Given the description of an element on the screen output the (x, y) to click on. 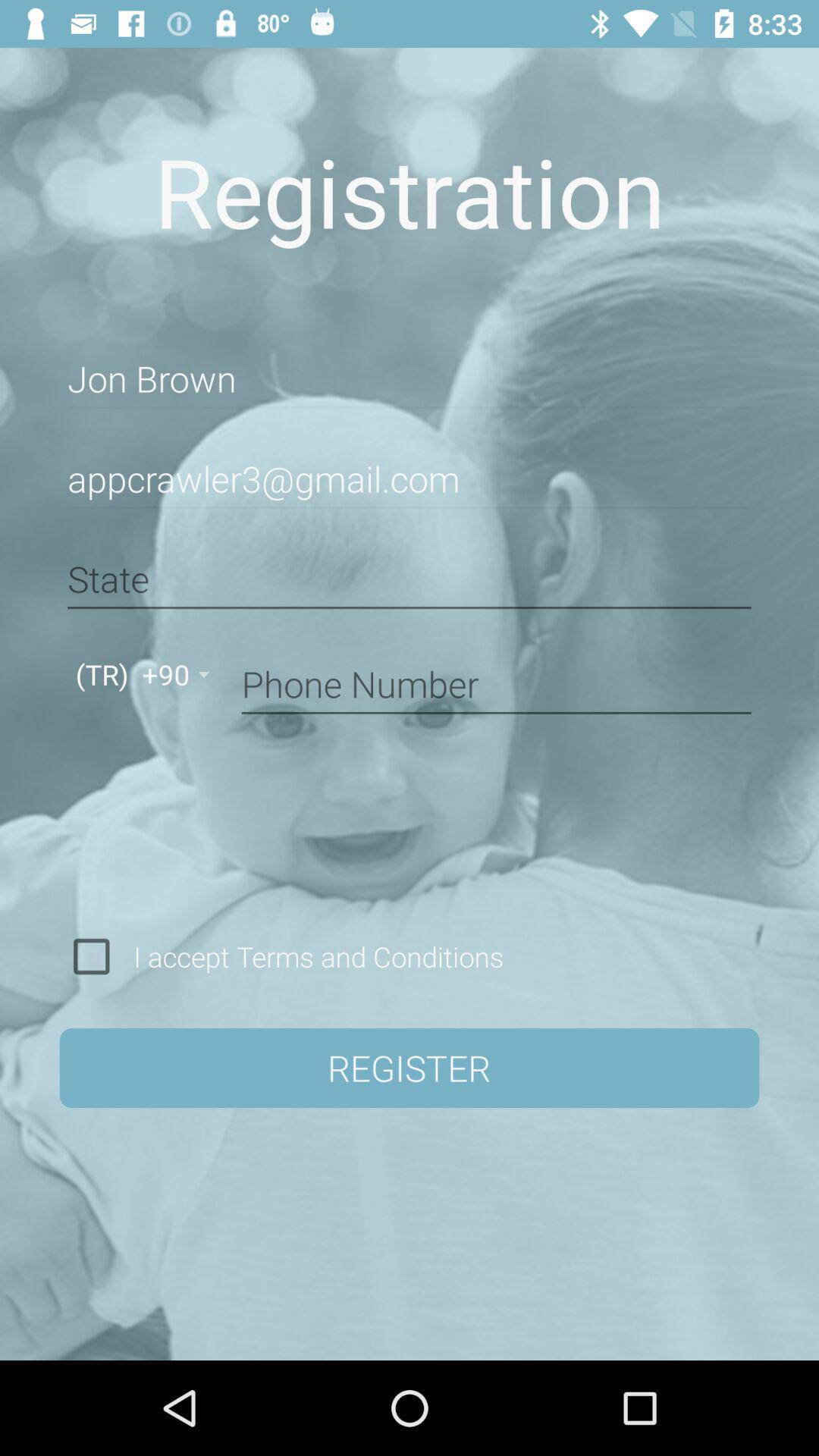
turn off item below registration icon (409, 379)
